Given the description of an element on the screen output the (x, y) to click on. 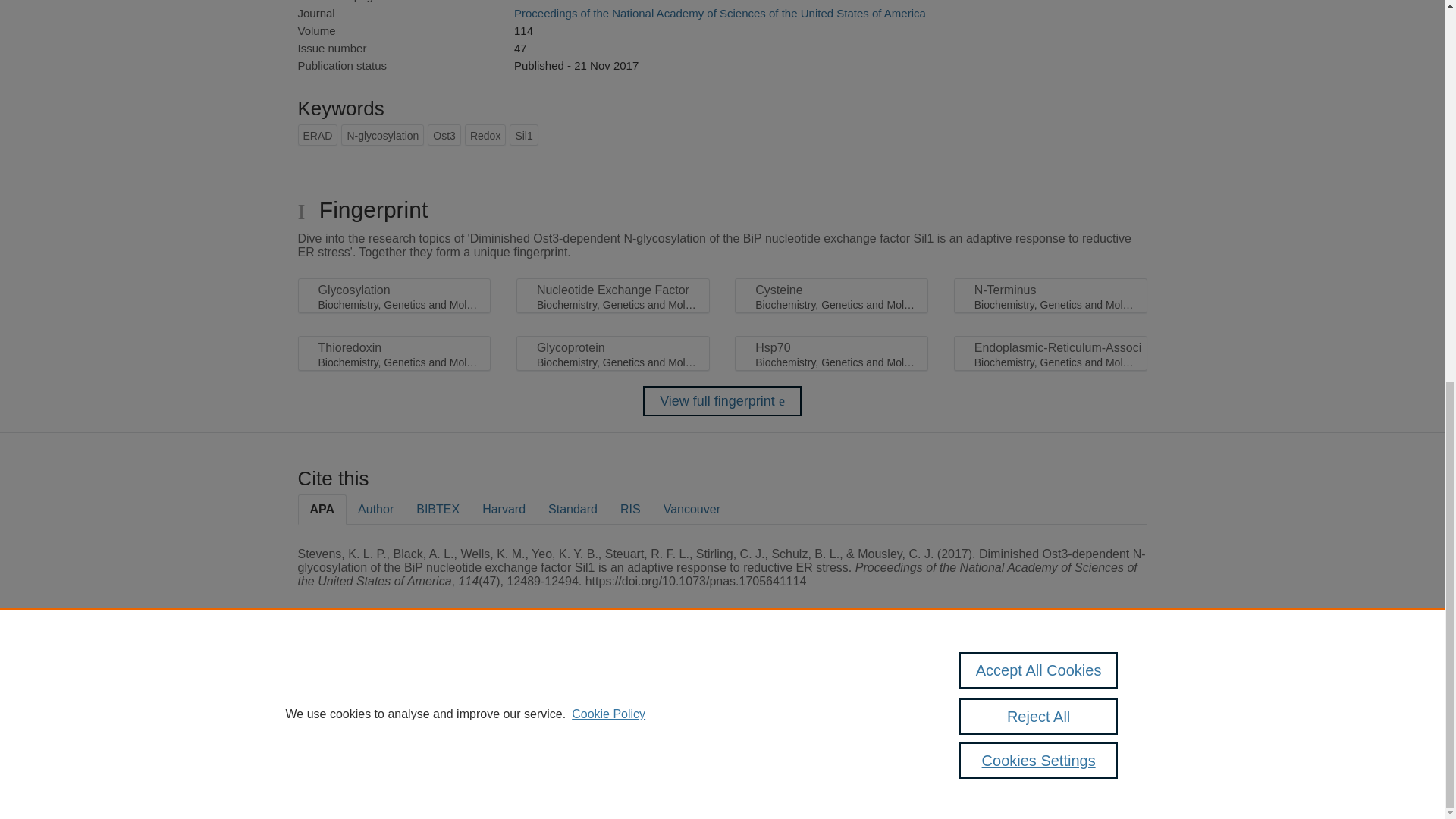
Elsevier B.V. (506, 707)
Cookies Settings (334, 760)
Scopus (394, 686)
Report vulnerability (1090, 724)
Pure (362, 686)
About web accessibility (1090, 692)
use of cookies (796, 739)
View full fingerprint (722, 400)
Log in to ResearchNow (347, 781)
